Given the description of an element on the screen output the (x, y) to click on. 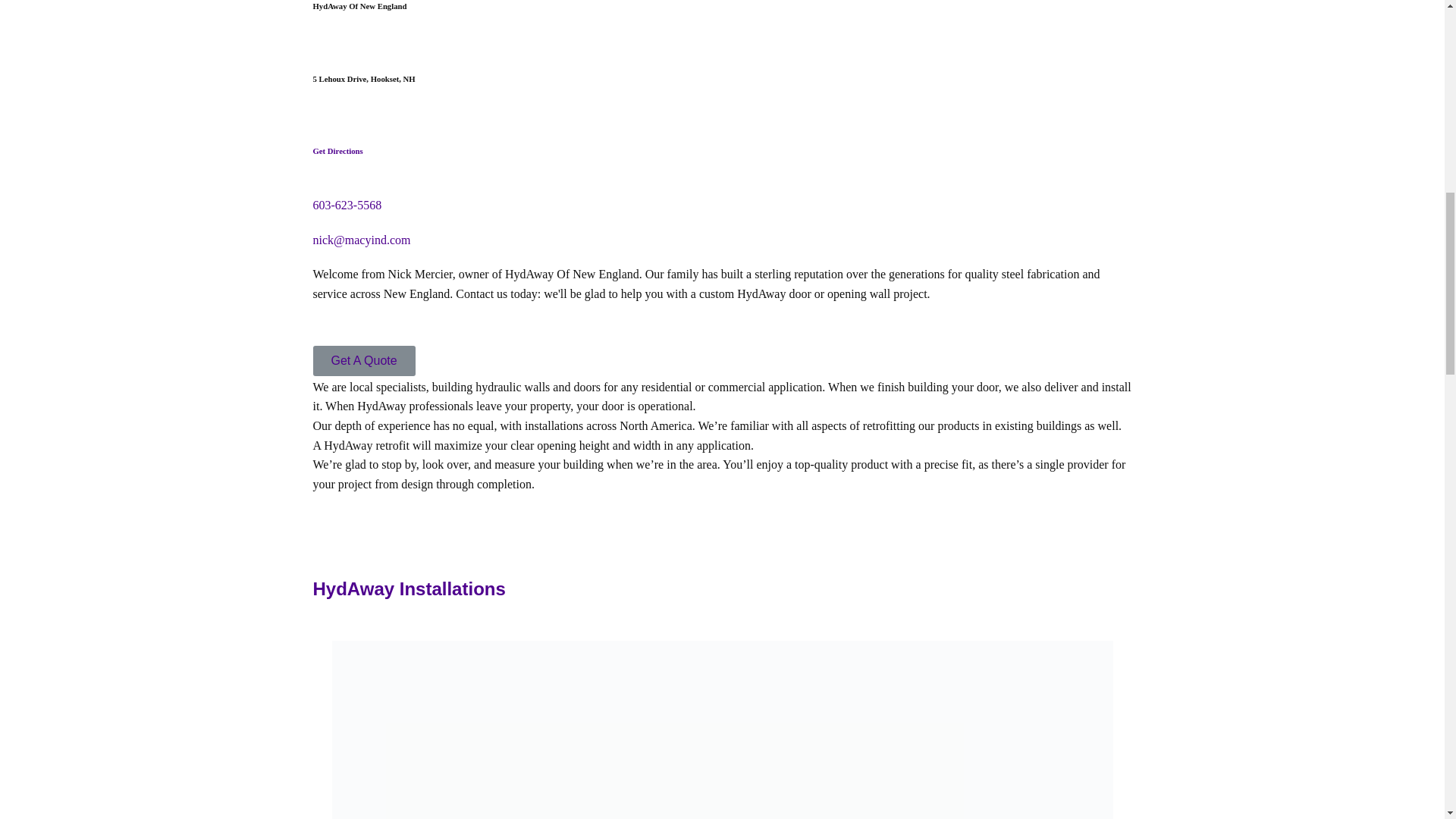
603-623-5568 (347, 205)
Get Directions (337, 150)
Get A Quote (363, 360)
